Given the description of an element on the screen output the (x, y) to click on. 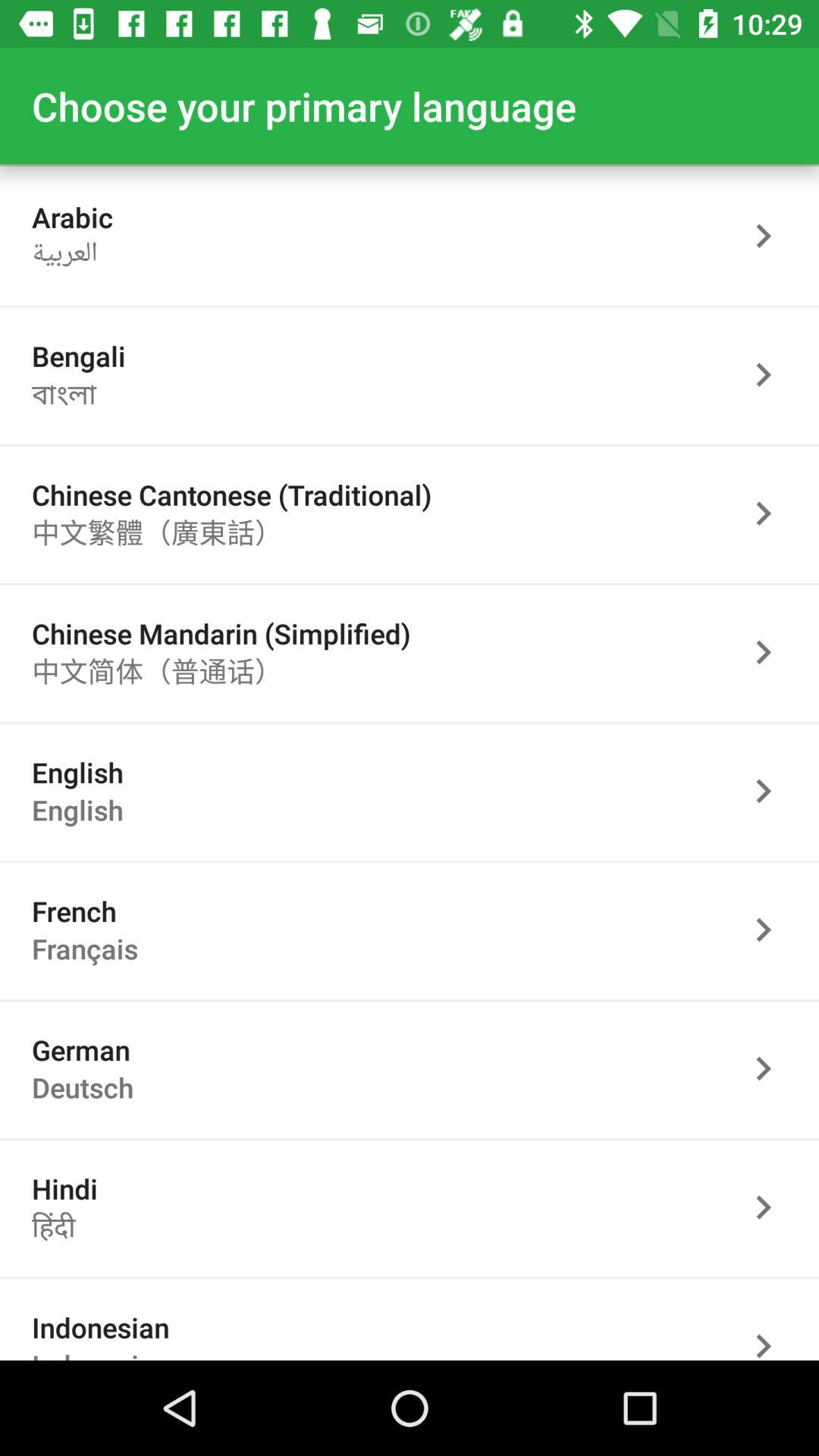
set english as primary language (771, 790)
